Given the description of an element on the screen output the (x, y) to click on. 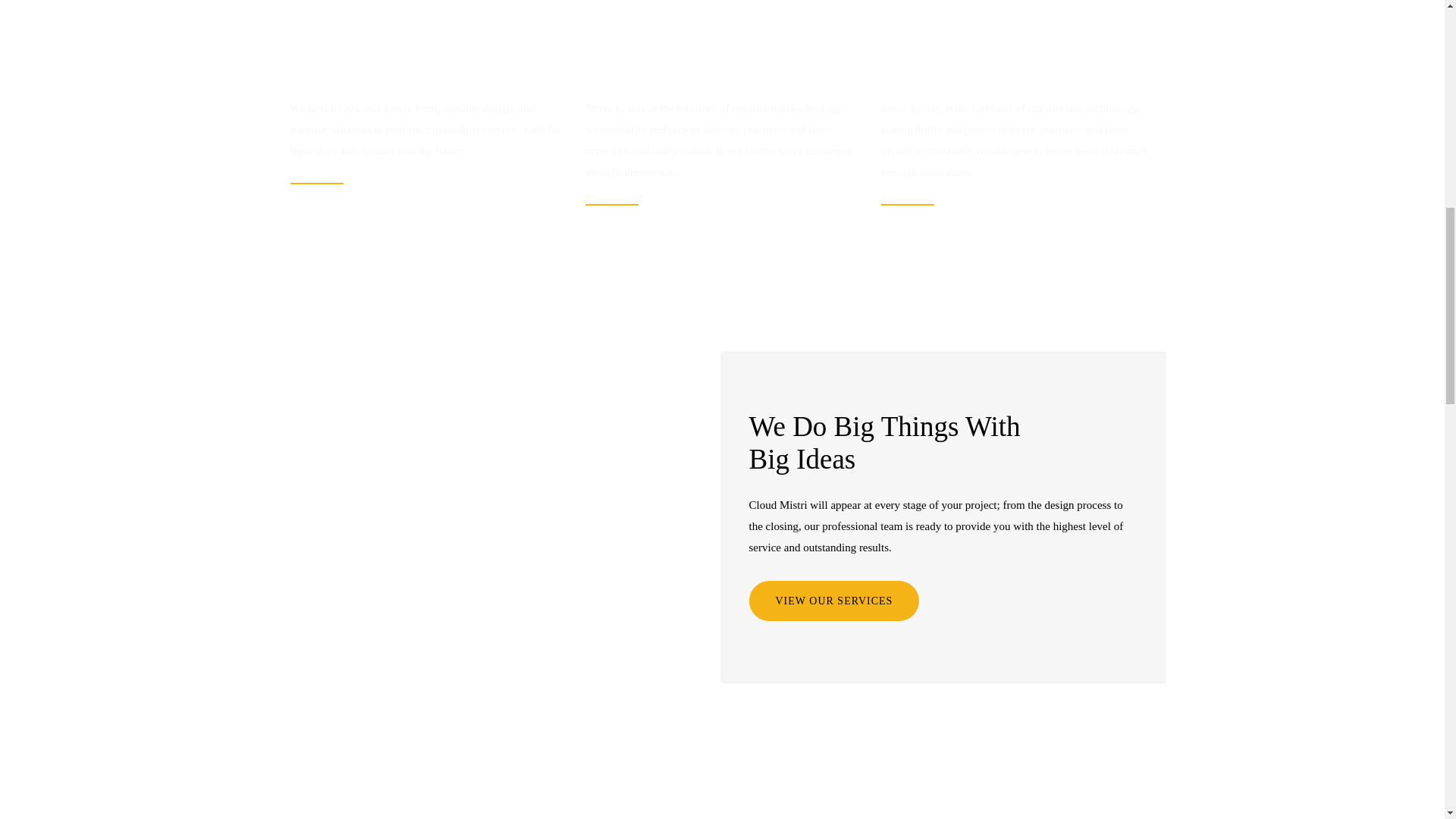
VIEW OUR SERVICES (834, 600)
